Given the description of an element on the screen output the (x, y) to click on. 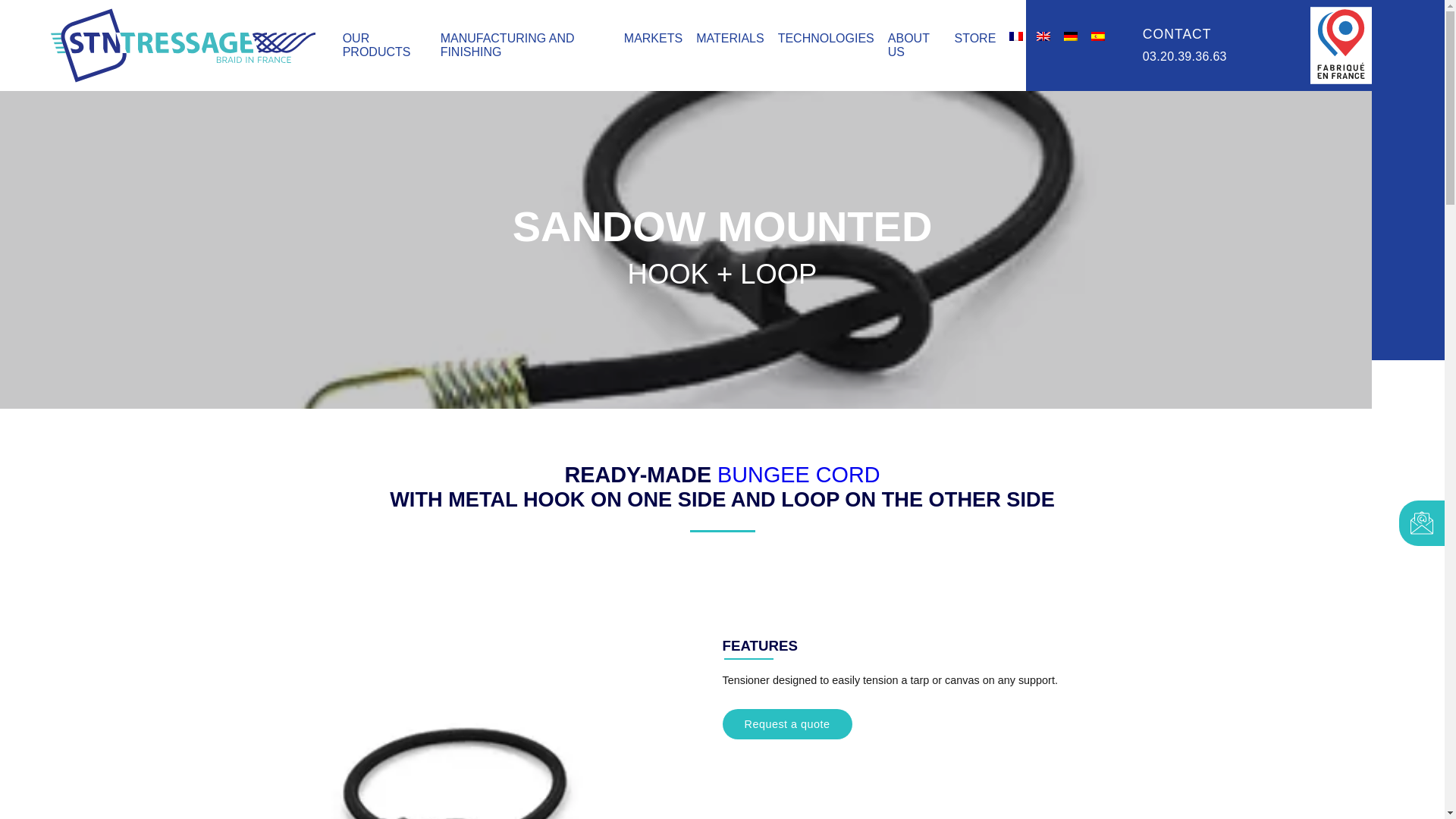
MATERIALS (729, 38)
STORE (974, 38)
OUR PRODUCTS (376, 44)
MANUFACTURING AND FINISHING (508, 44)
MARKETS (653, 38)
ABOUT US (909, 44)
TECHNOLOGIES (826, 38)
